Given the description of an element on the screen output the (x, y) to click on. 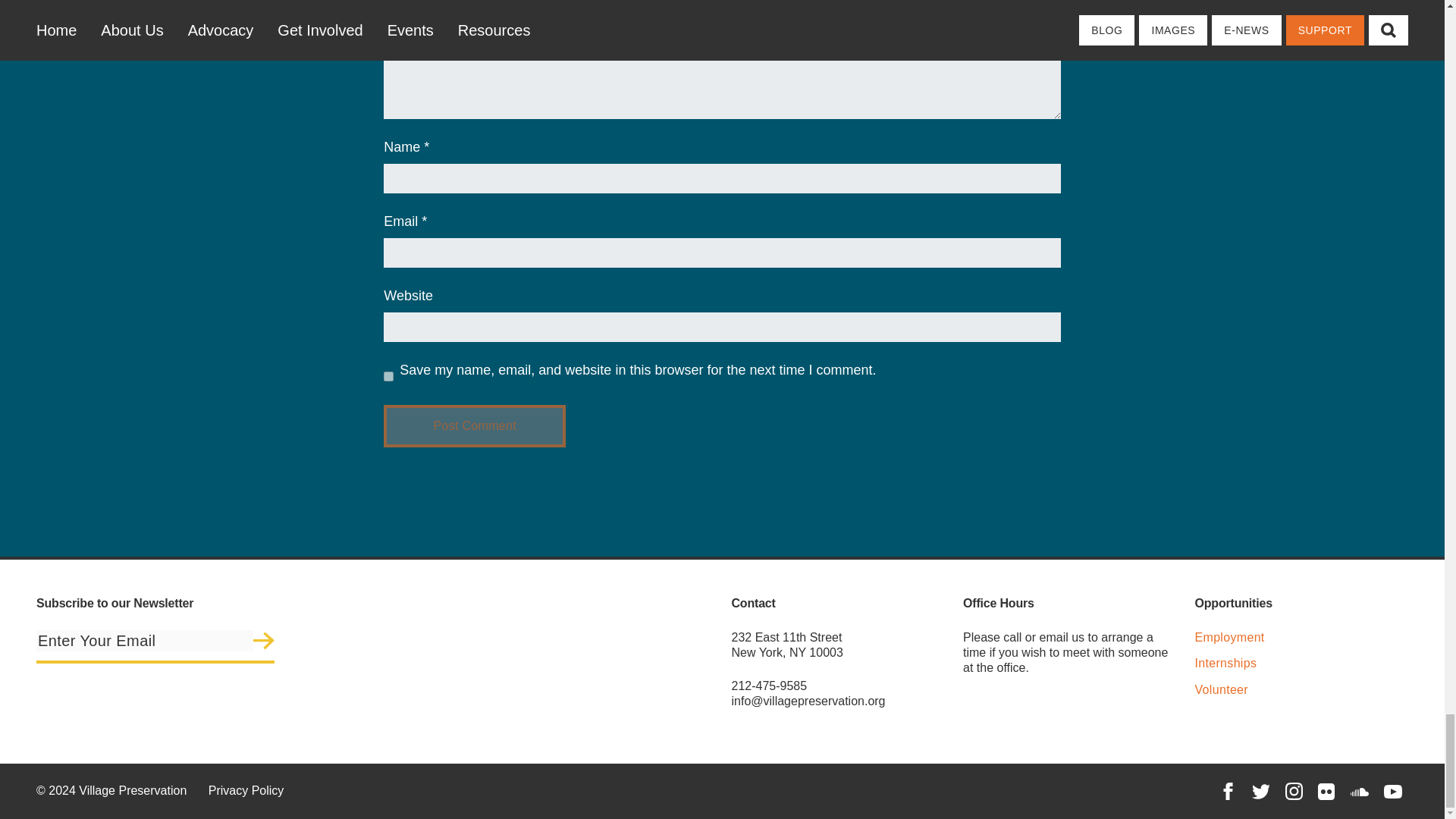
Post Comment (475, 425)
